Given the description of an element on the screen output the (x, y) to click on. 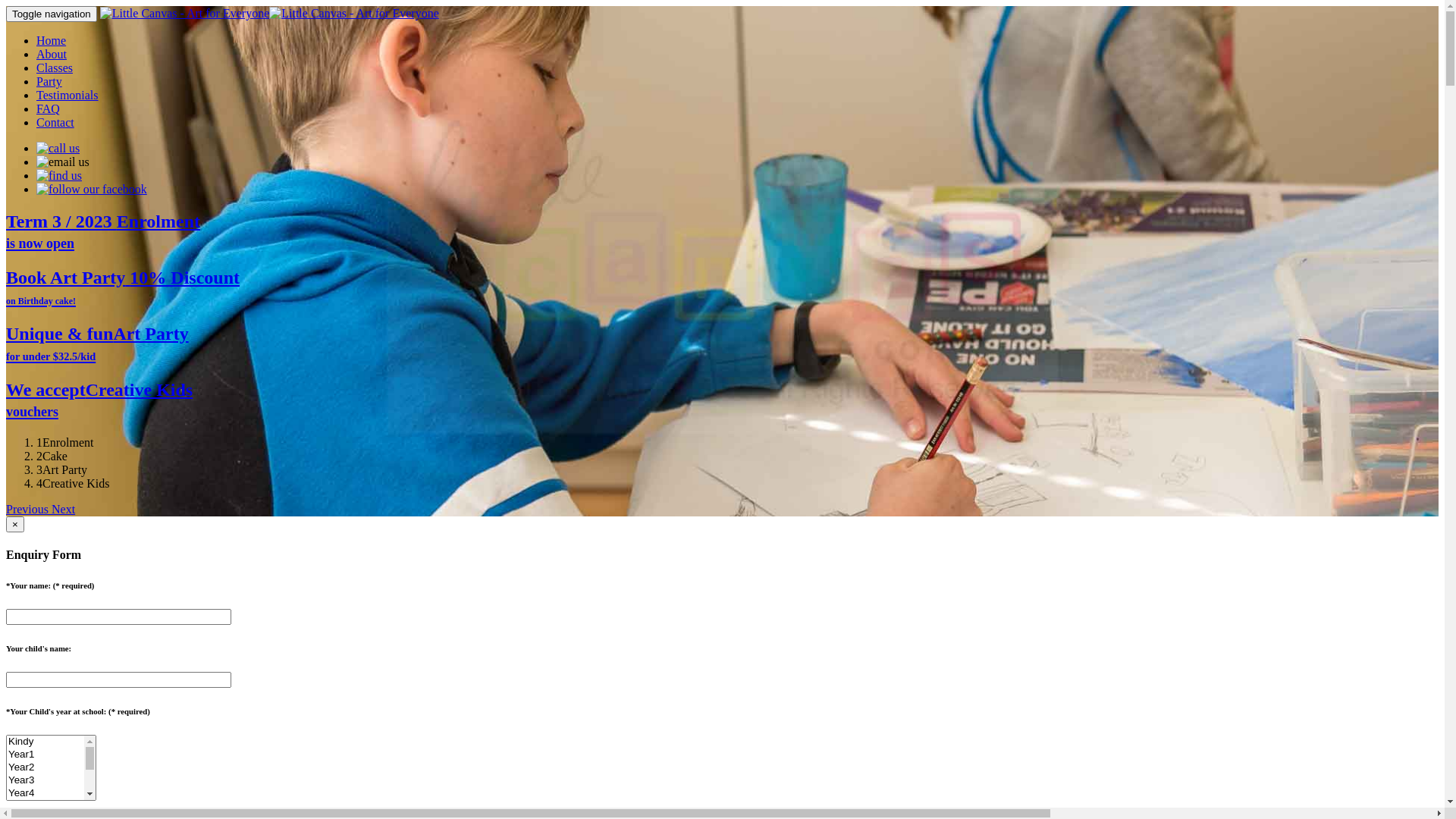
Contact Element type: text (55, 122)
Toggle navigation Element type: text (51, 13)
Book Art Party 10% Discount
on Birthday cake! Element type: text (722, 287)
Unique & funArt Party
for under $32.5/kid Element type: text (722, 343)
About Element type: text (51, 53)
Previous Element type: text (28, 508)
FAQ Element type: text (47, 108)
Home Element type: text (50, 40)
Next Element type: text (63, 508)
Classes Element type: text (54, 67)
Party Element type: text (49, 81)
Testimonials Element type: text (67, 94)
We acceptCreative Kids
vouchers Element type: text (722, 399)
Term 3 / 2023 Enrolment
is now open Element type: text (722, 231)
